Given the description of an element on the screen output the (x, y) to click on. 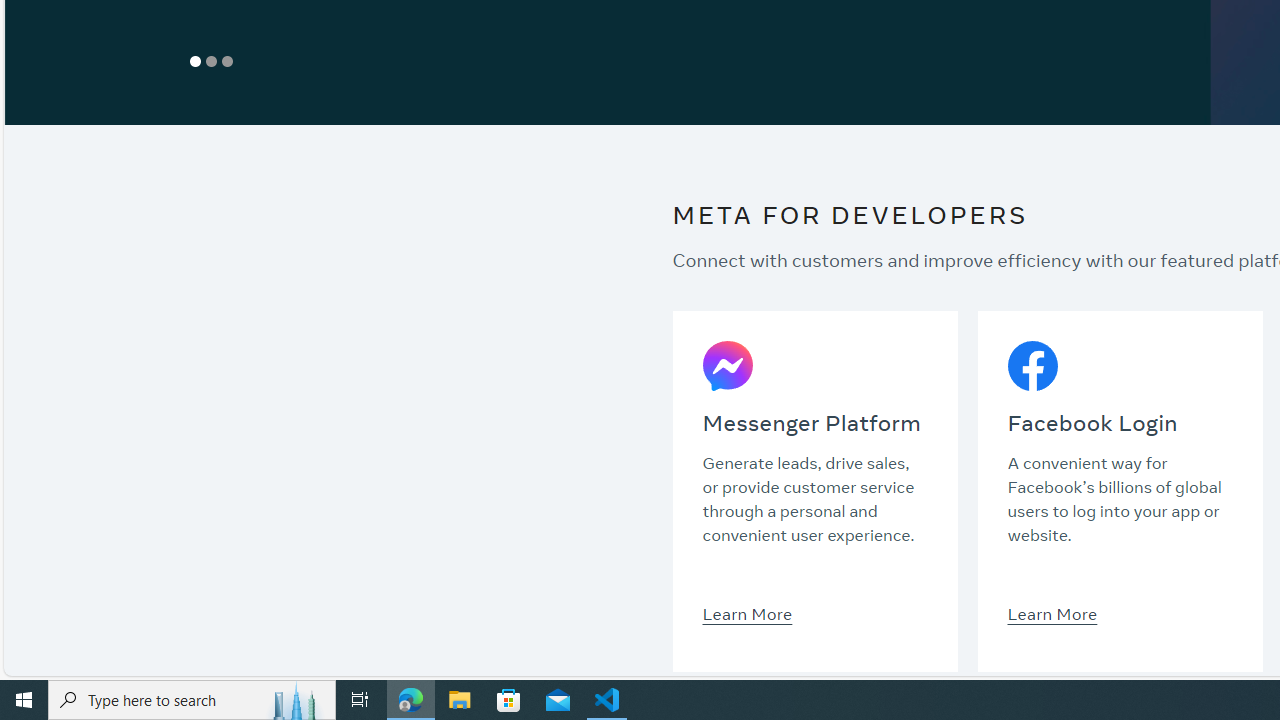
Show Slide 2 (210, 61)
Show Slide 3 (226, 61)
Learn More (1052, 613)
Show Slide 1 (194, 61)
